Given the description of an element on the screen output the (x, y) to click on. 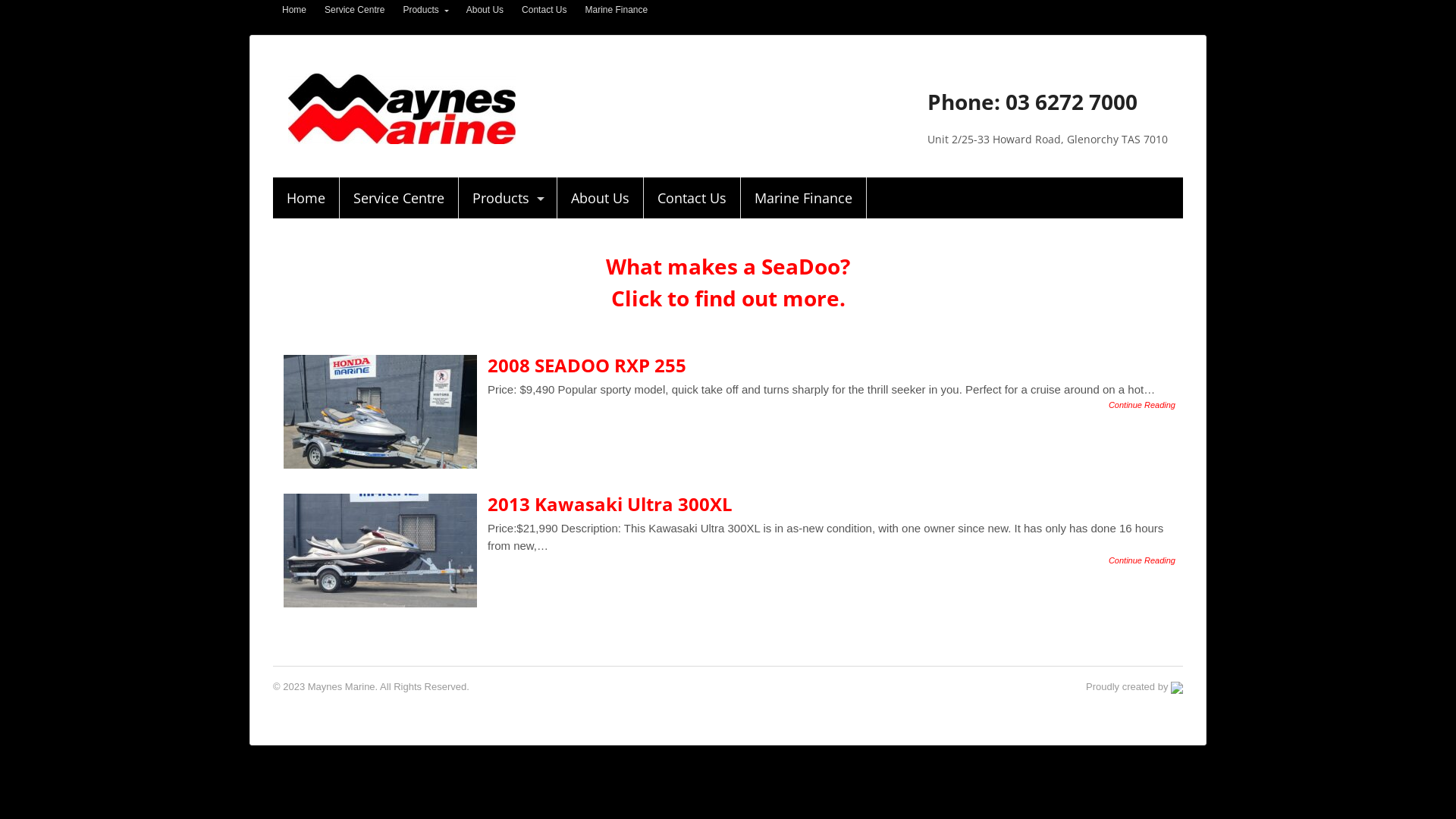
Products Element type: text (424, 9)
Permalink to: 2008 SEADOO RXP 255 Element type: hover (380, 411)
Marine Finance Element type: text (803, 197)
Products Element type: text (507, 197)
Home Element type: text (294, 9)
About Us Element type: text (600, 197)
Permalink to: 2013 Kawasaki Ultra 300XL Element type: hover (380, 550)
2008 SEADOO RXP 255 Element type: text (586, 364)
Contact Us Element type: text (543, 9)
Hobart's local friendly boating centre Element type: hover (401, 135)
Home Element type: text (305, 197)
About Us Element type: text (484, 9)
Service Centre Element type: text (398, 197)
Service Centre Element type: text (354, 9)
Continue Reading Element type: text (1141, 404)
Marine Finance Element type: text (615, 9)
What makes a SeaDoo?
Click to find out more. Element type: text (727, 281)
Continue Reading Element type: text (1141, 559)
2013 Kawasaki Ultra 300XL Element type: text (609, 503)
Contact Us Element type: text (691, 197)
